Given the description of an element on the screen output the (x, y) to click on. 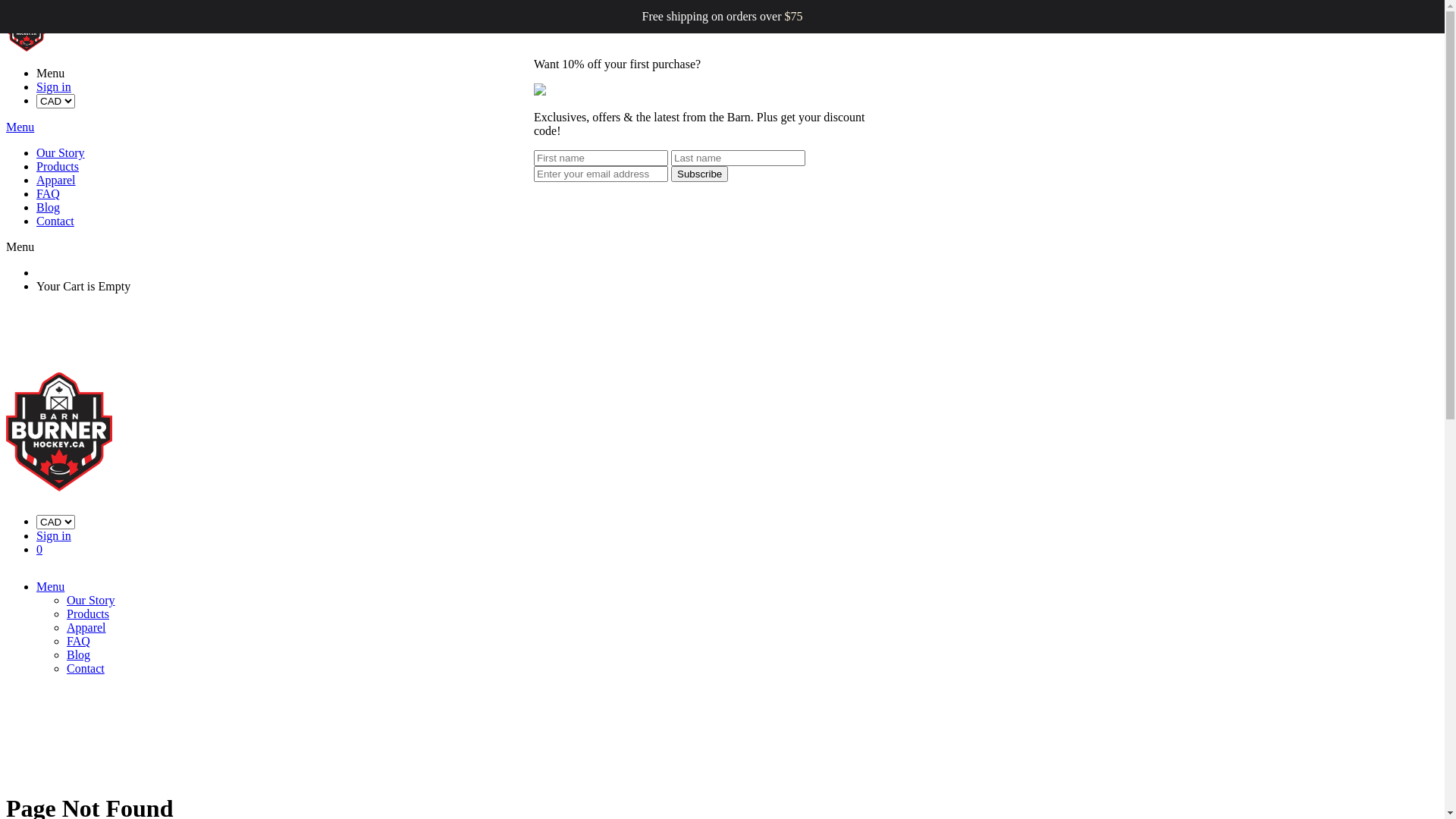
Apparel Element type: text (55, 179)
FAQ Element type: text (78, 640)
Sign in Element type: text (53, 535)
Contact Element type: text (55, 220)
Menu Element type: text (50, 586)
Our Story Element type: text (60, 152)
Menu Element type: text (20, 126)
0 Element type: text (39, 548)
Apparel Element type: text (86, 627)
Products Element type: text (87, 613)
FAQ Element type: text (47, 193)
Menu Element type: text (20, 246)
Products Element type: text (57, 166)
Contact Element type: text (85, 668)
Subscribe Element type: text (699, 174)
Blog Element type: text (47, 206)
Sign in Element type: text (53, 86)
Barn Burner Hockey Element type: hover (722, 431)
Blog Element type: text (78, 654)
Our Story Element type: text (90, 599)
